Given the description of an element on the screen output the (x, y) to click on. 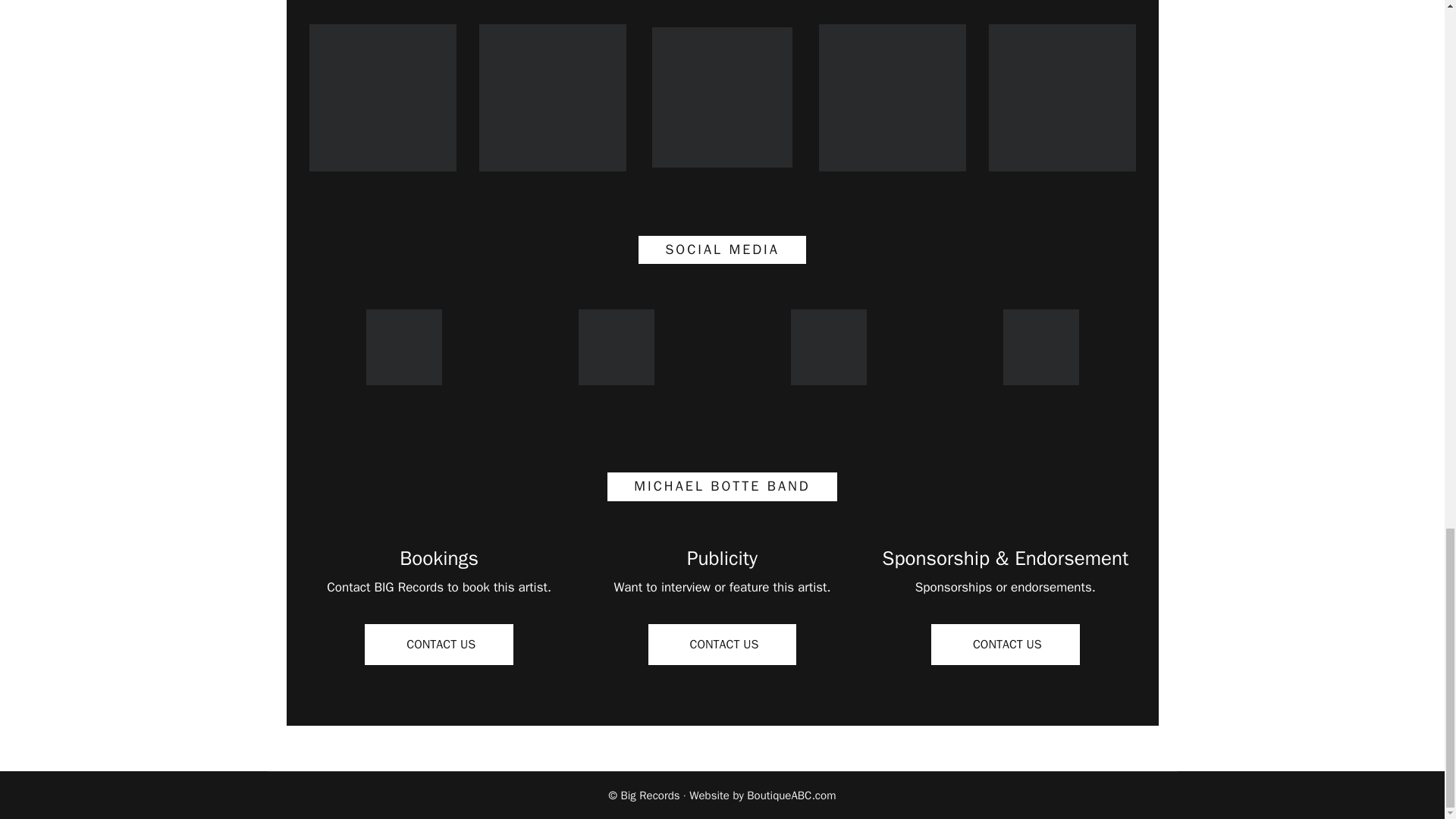
Facebook (403, 346)
YouTube (615, 346)
Instagram (828, 346)
Amazon Music (722, 97)
Spotify (382, 97)
YouTube Music (892, 97)
Deezer (1061, 97)
Apple Music (552, 97)
